Given the description of an element on the screen output the (x, y) to click on. 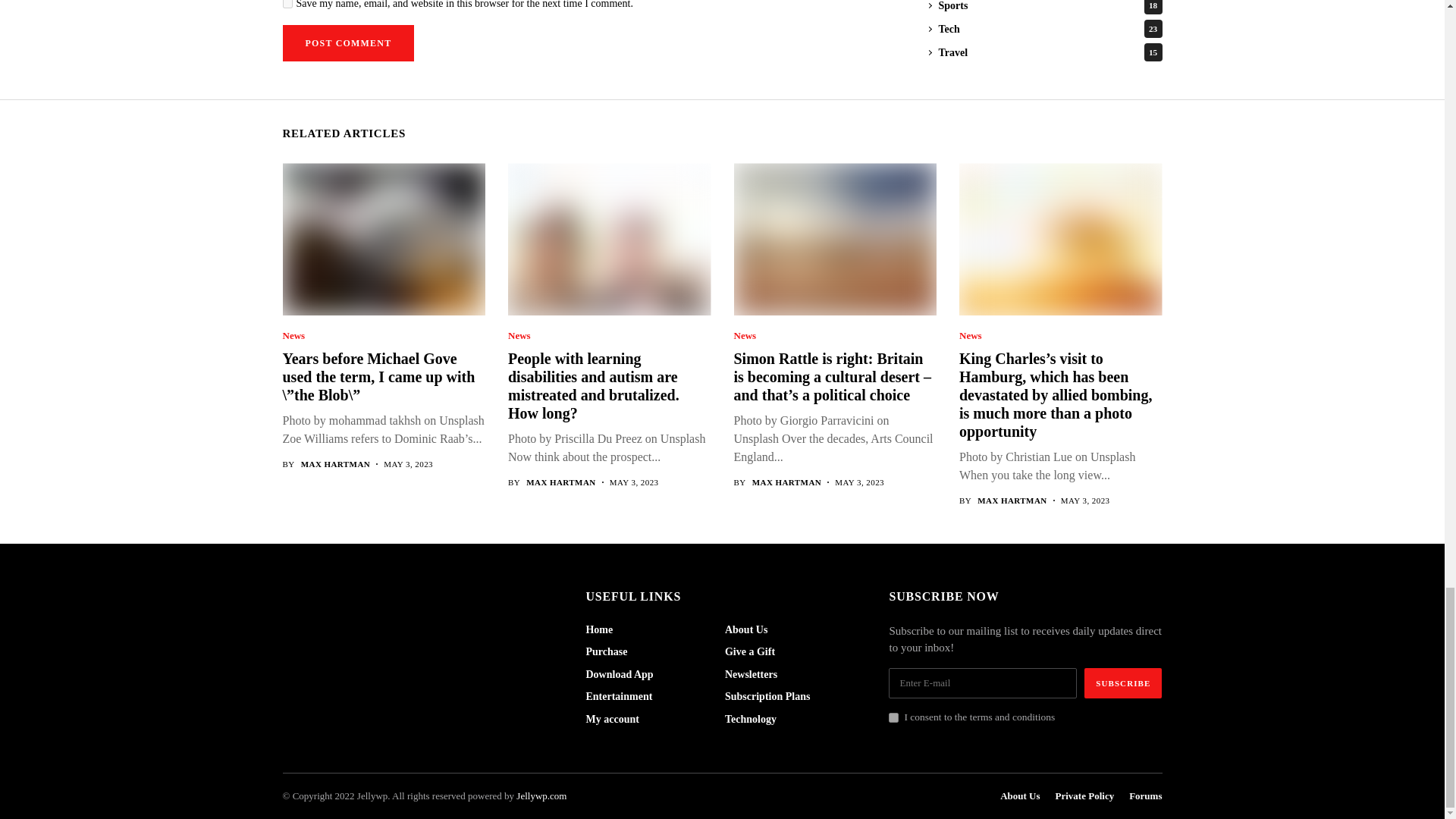
Post Comment (347, 43)
Subscribe (1122, 683)
Posts by Max Hartman (787, 482)
Posts by Max Hartman (1011, 501)
1 (893, 717)
yes (287, 4)
Posts by Max Hartman (560, 482)
